Given the description of an element on the screen output the (x, y) to click on. 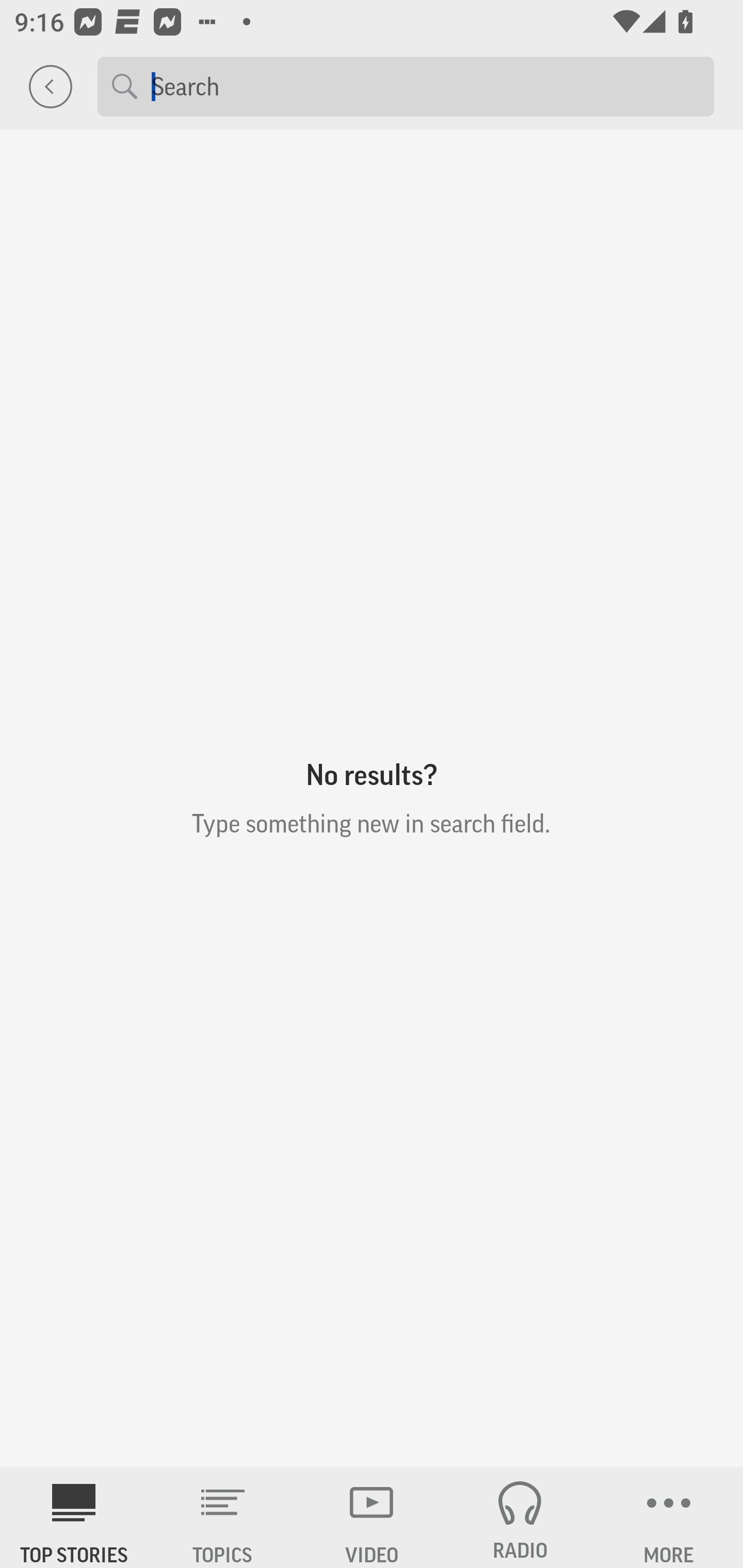
Search (425, 86)
AP News TOP STORIES (74, 1517)
TOPICS (222, 1517)
VIDEO (371, 1517)
RADIO (519, 1517)
MORE (668, 1517)
